Given the description of an element on the screen output the (x, y) to click on. 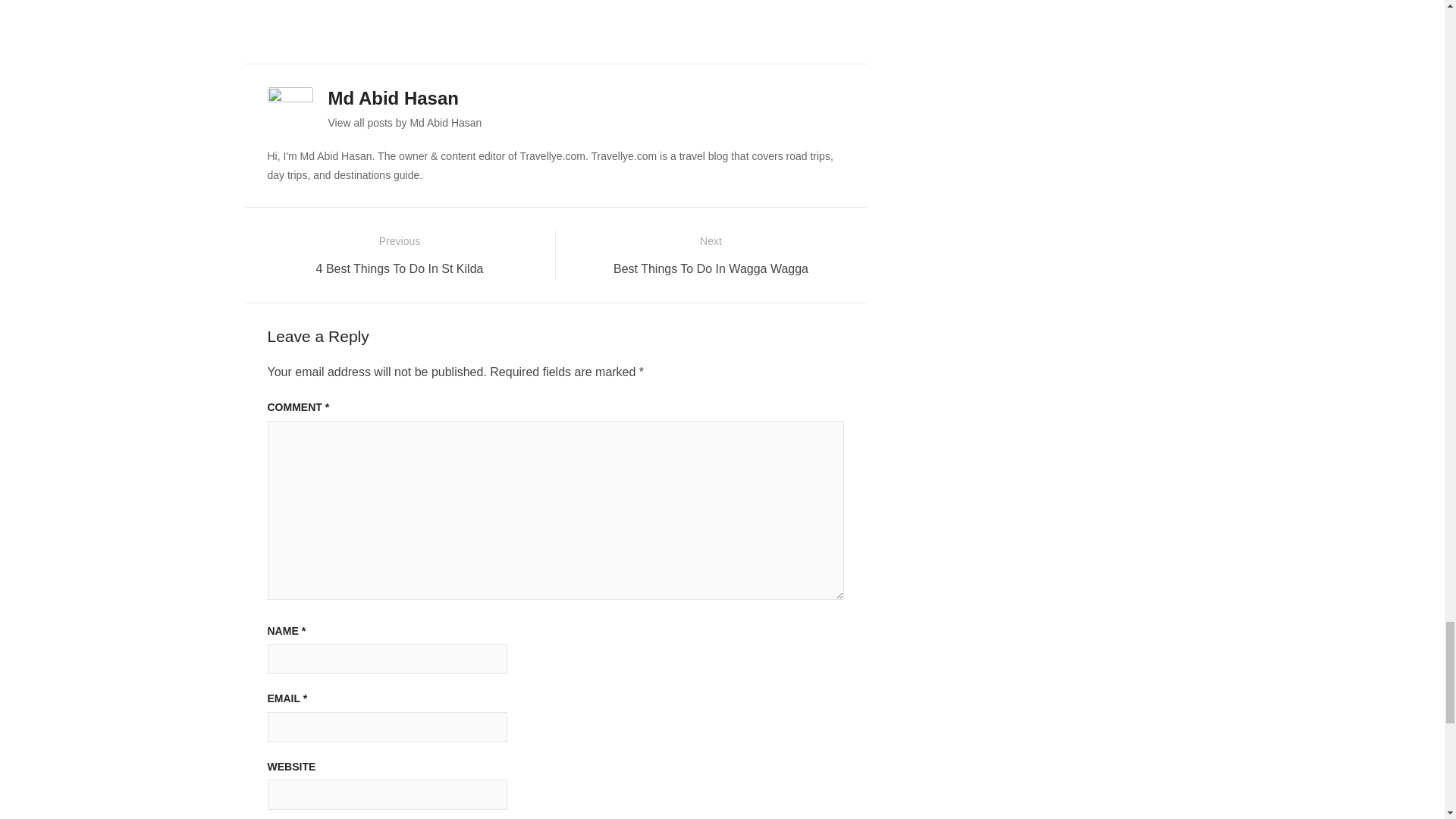
View all posts by Md Abid Hasan (400, 255)
